Given the description of an element on the screen output the (x, y) to click on. 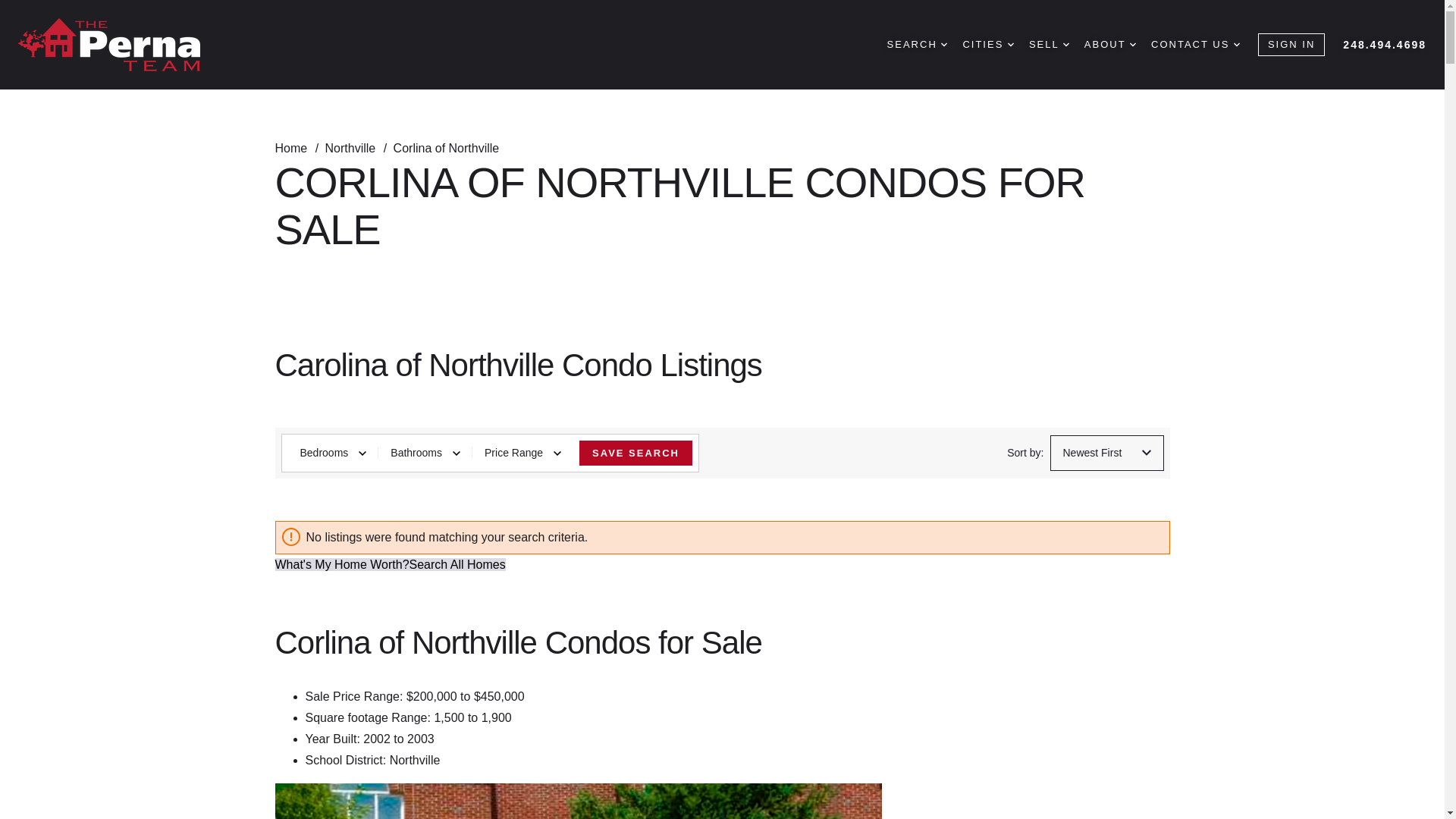
SEARCH DROPDOWN ARROW (916, 44)
DROPDOWN ARROW (943, 44)
DROPDOWN ARROW (1010, 44)
DROPDOWN ARROW (1065, 44)
DROPDOWN ARROW (1132, 44)
SELL DROPDOWN ARROW (1048, 44)
CITIES DROPDOWN ARROW (987, 44)
DROPDOWN ARROW (1236, 44)
